Given the description of an element on the screen output the (x, y) to click on. 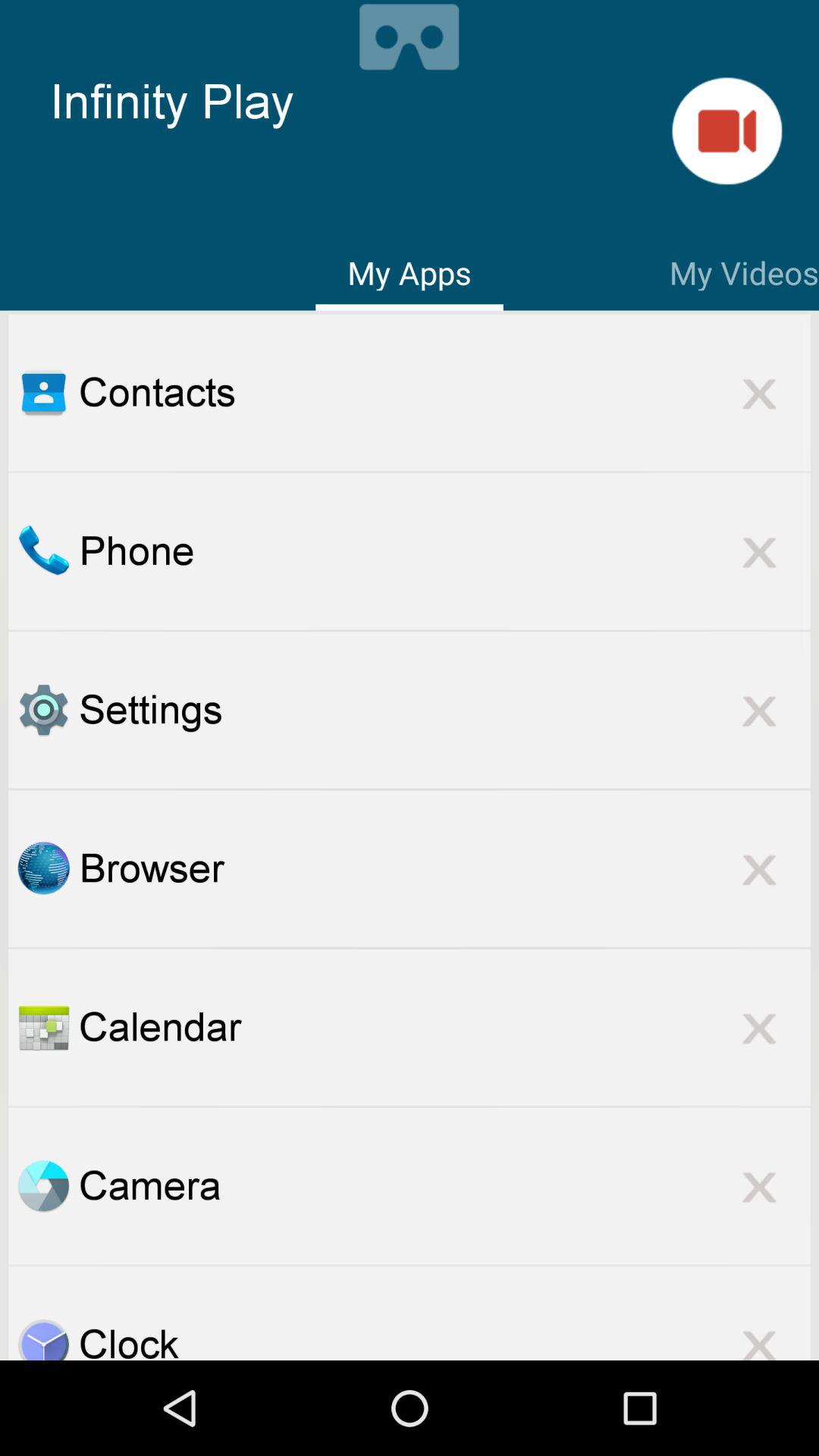
go to close (759, 392)
